Given the description of an element on the screen output the (x, y) to click on. 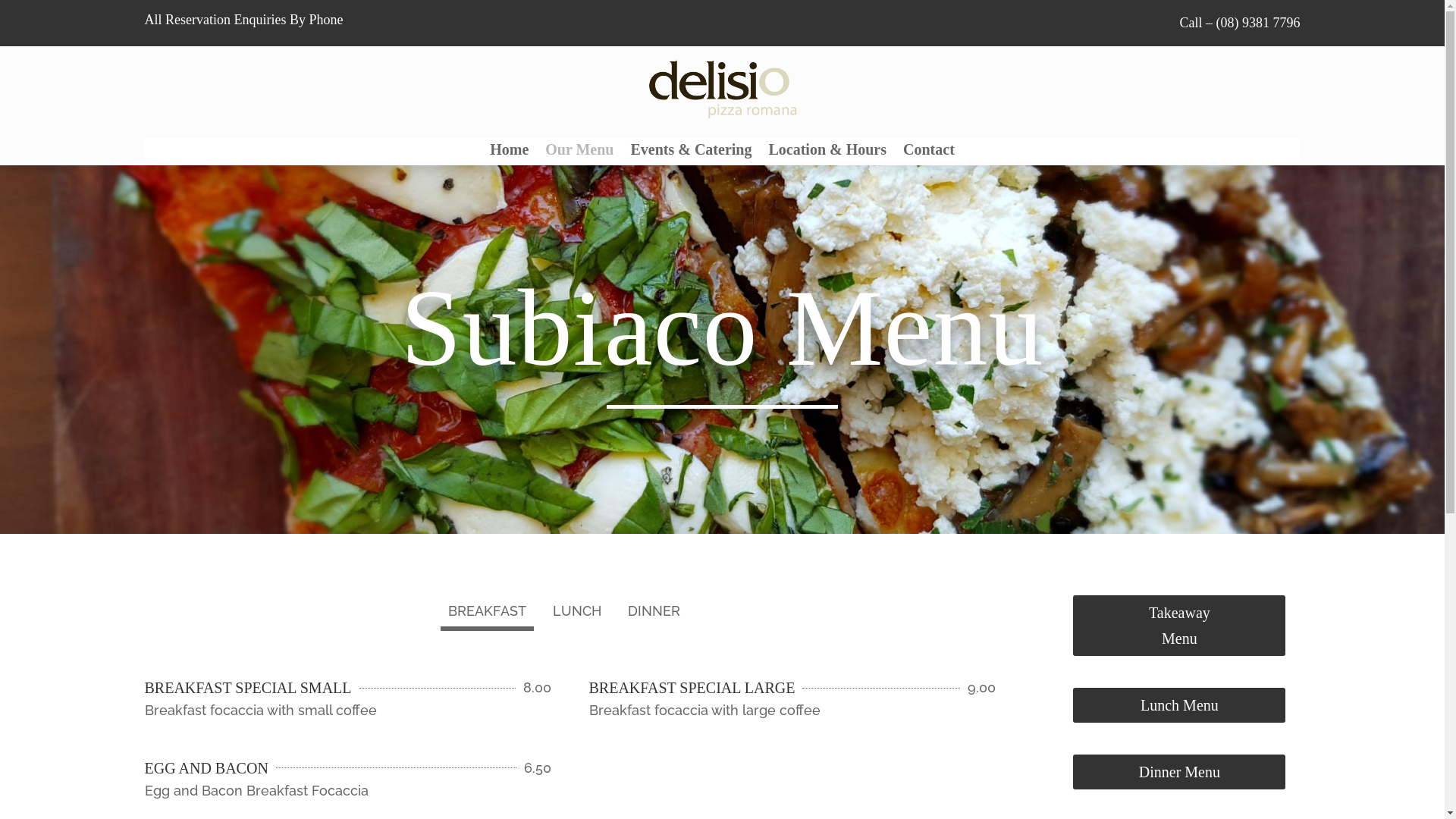
Location & Hours Element type: text (827, 152)
Delisio-Logo-Perth-Subiaco-Gourmet-Pizzeria Element type: hover (721, 89)
Lunch Menu Element type: text (1179, 704)
Takeaway Menu Element type: text (1179, 625)
Home Element type: text (508, 152)
Contact Element type: text (928, 152)
Our Menu Element type: text (579, 152)
Dinner Menu Element type: text (1179, 771)
Events & Catering Element type: text (690, 152)
